Given the description of an element on the screen output the (x, y) to click on. 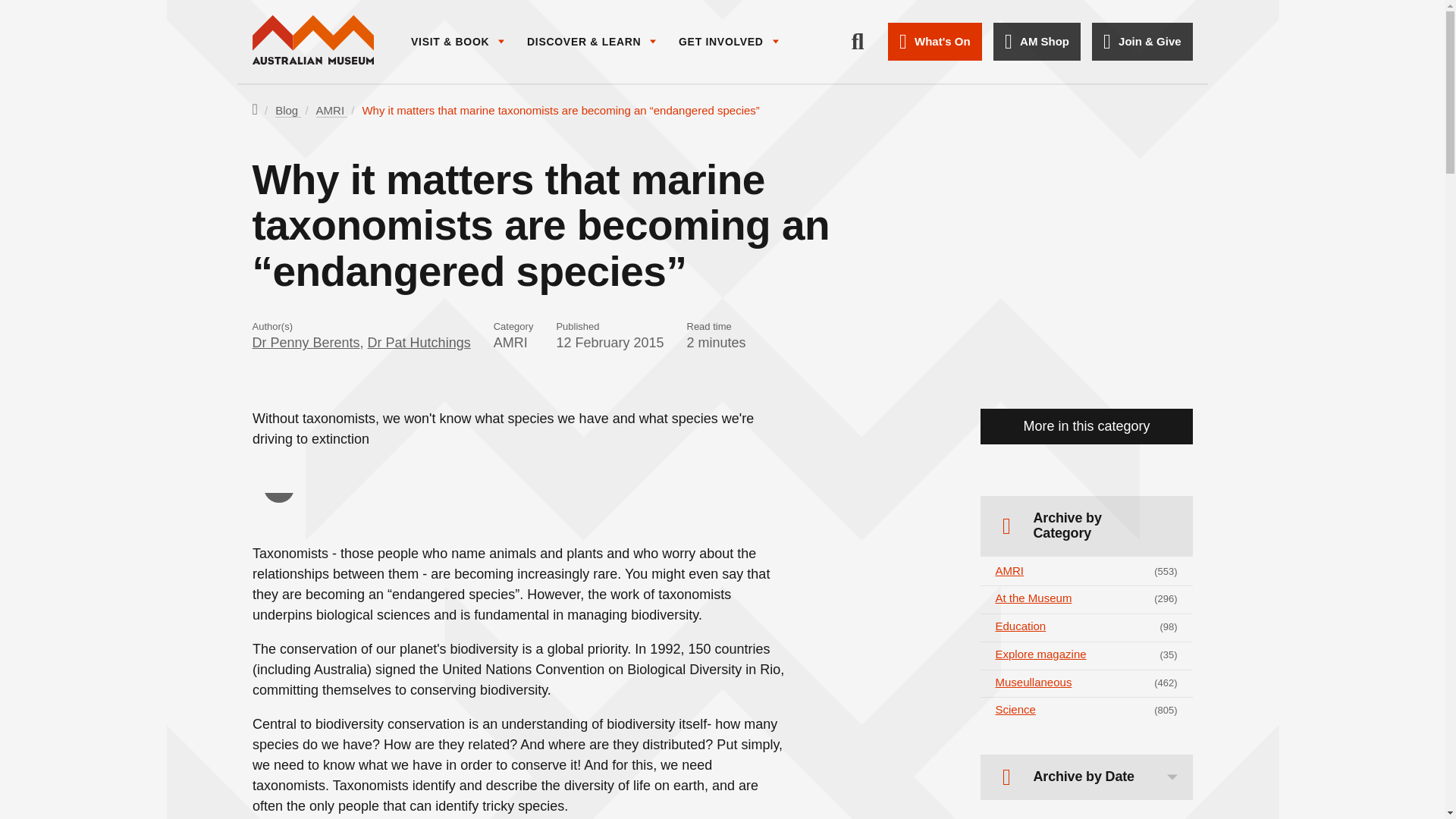
Go to homepage (311, 40)
Welcome to the Australian Museum website (311, 40)
